Given the description of an element on the screen output the (x, y) to click on. 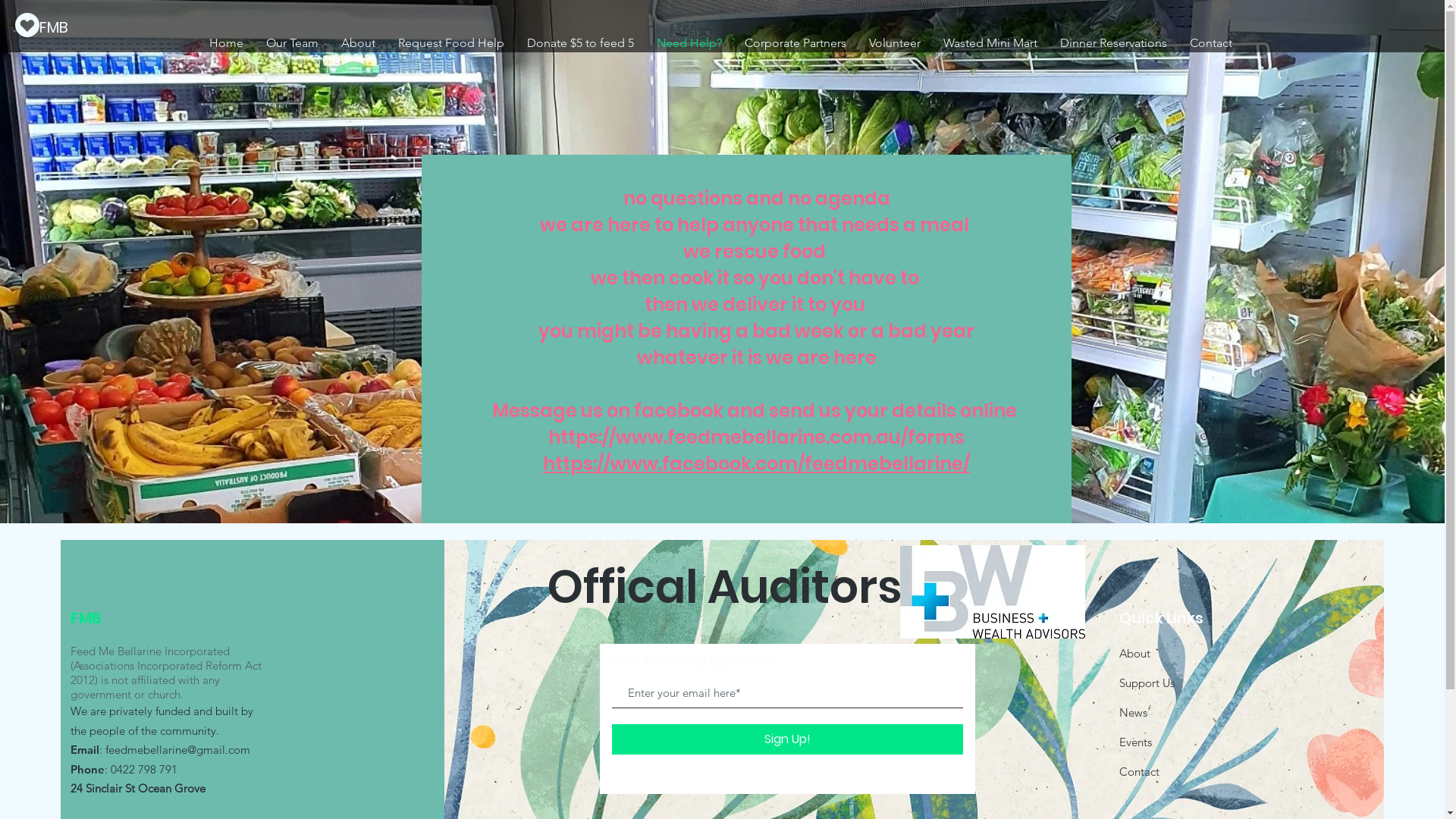
Sign Up! Element type: text (787, 739)
Contact Element type: text (1210, 42)
Wasted Mini Mart Element type: text (989, 42)
About Element type: text (1134, 653)
Events Element type: text (1135, 741)
Request Food Help Element type: text (450, 42)
FMB Element type: text (55, 26)
About Element type: text (357, 42)
Home Element type: text (225, 42)
Corporate Partners Element type: text (794, 42)
Need Help? Element type: text (688, 42)
feedmebellarine@gmail.com Element type: text (177, 749)
Dinner Reservations Element type: text (1112, 42)
Donate $5 to feed 5 Element type: text (580, 42)
Volunteer Element type: text (893, 42)
Support Us Element type: text (1146, 682)
https://www.facebook.com/feedmebellarine/ Element type: text (755, 463)
News Element type: text (1133, 712)
https://www.feedmebellarine.com.au/forms Element type: text (756, 436)
Contact Element type: text (1139, 771)
Our Team Element type: text (291, 42)
